Given the description of an element on the screen output the (x, y) to click on. 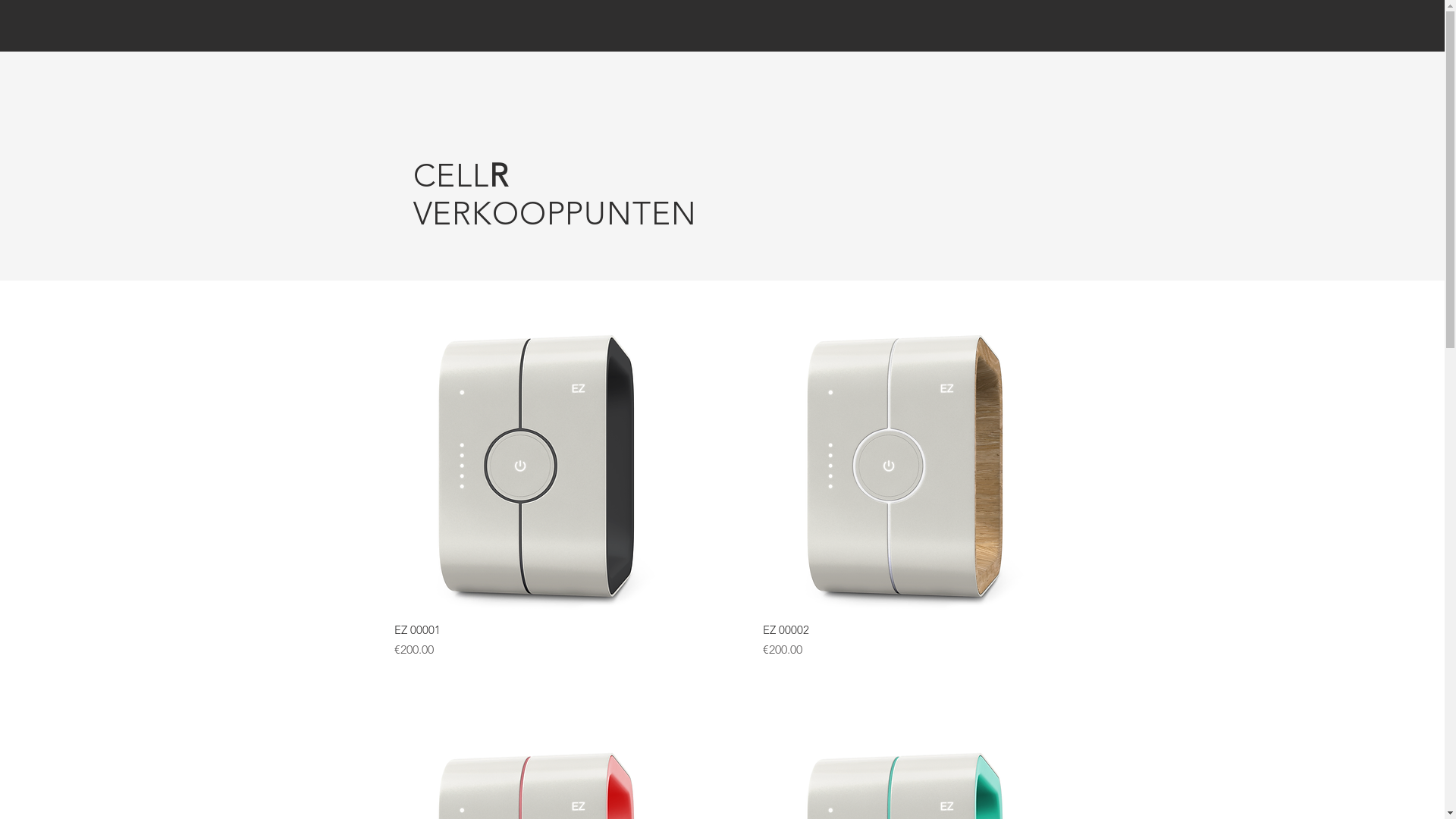
Wix Language Menu Element type: hover (404, 28)
